Given the description of an element on the screen output the (x, y) to click on. 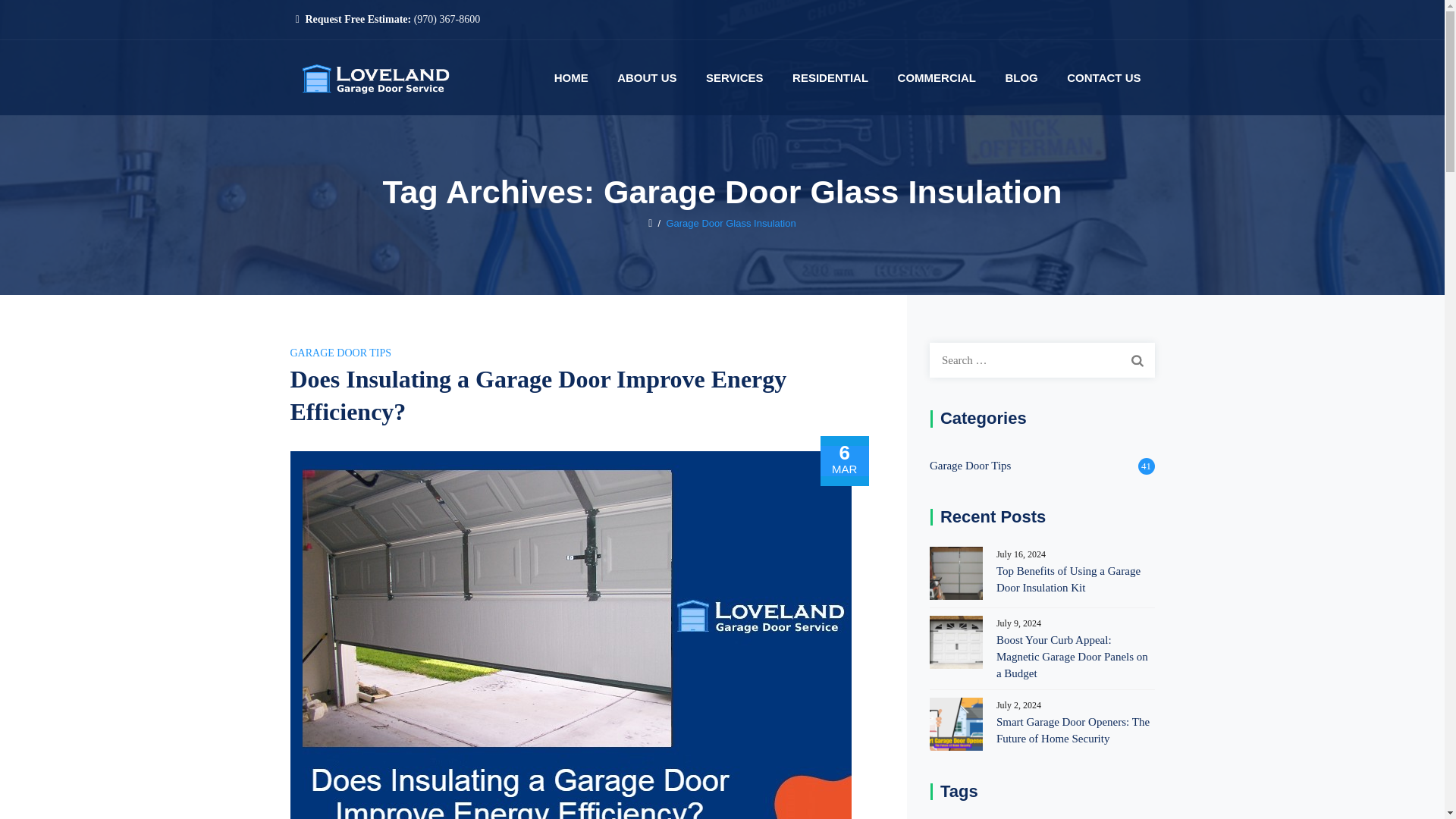
COMMERCIAL (936, 77)
GARAGE DOOR TIPS (340, 352)
Does Insulating a Garage Door Improve Energy Efficiency? (537, 395)
SERVICES (735, 77)
RESIDENTIAL (830, 77)
CONTACT US (1103, 77)
Loveland Garage Door Service (371, 77)
Search (1136, 360)
Search (1136, 360)
ABOUT US (647, 77)
